Given the description of an element on the screen output the (x, y) to click on. 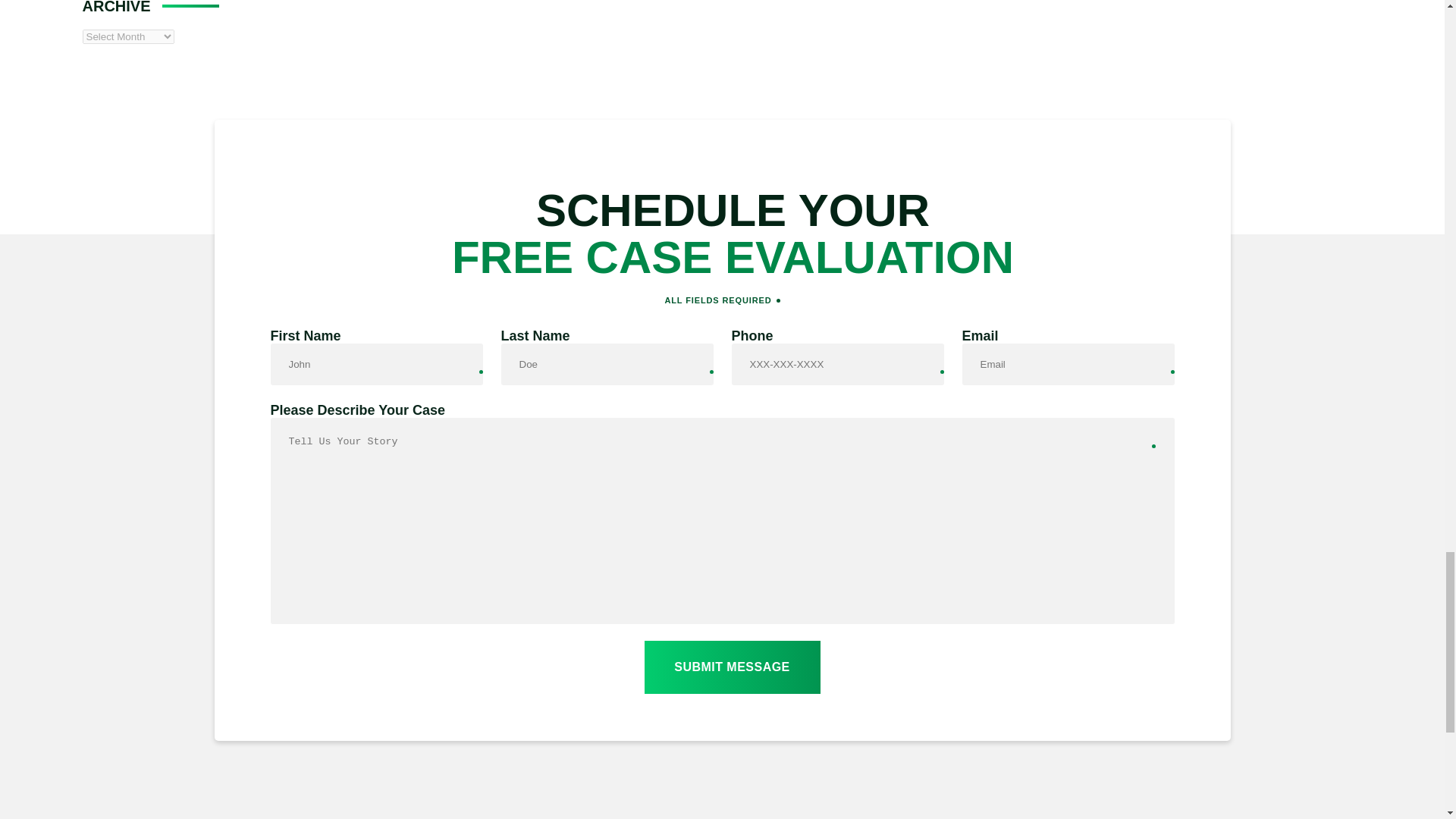
SUBMIT MESSAGE (733, 666)
